Given the description of an element on the screen output the (x, y) to click on. 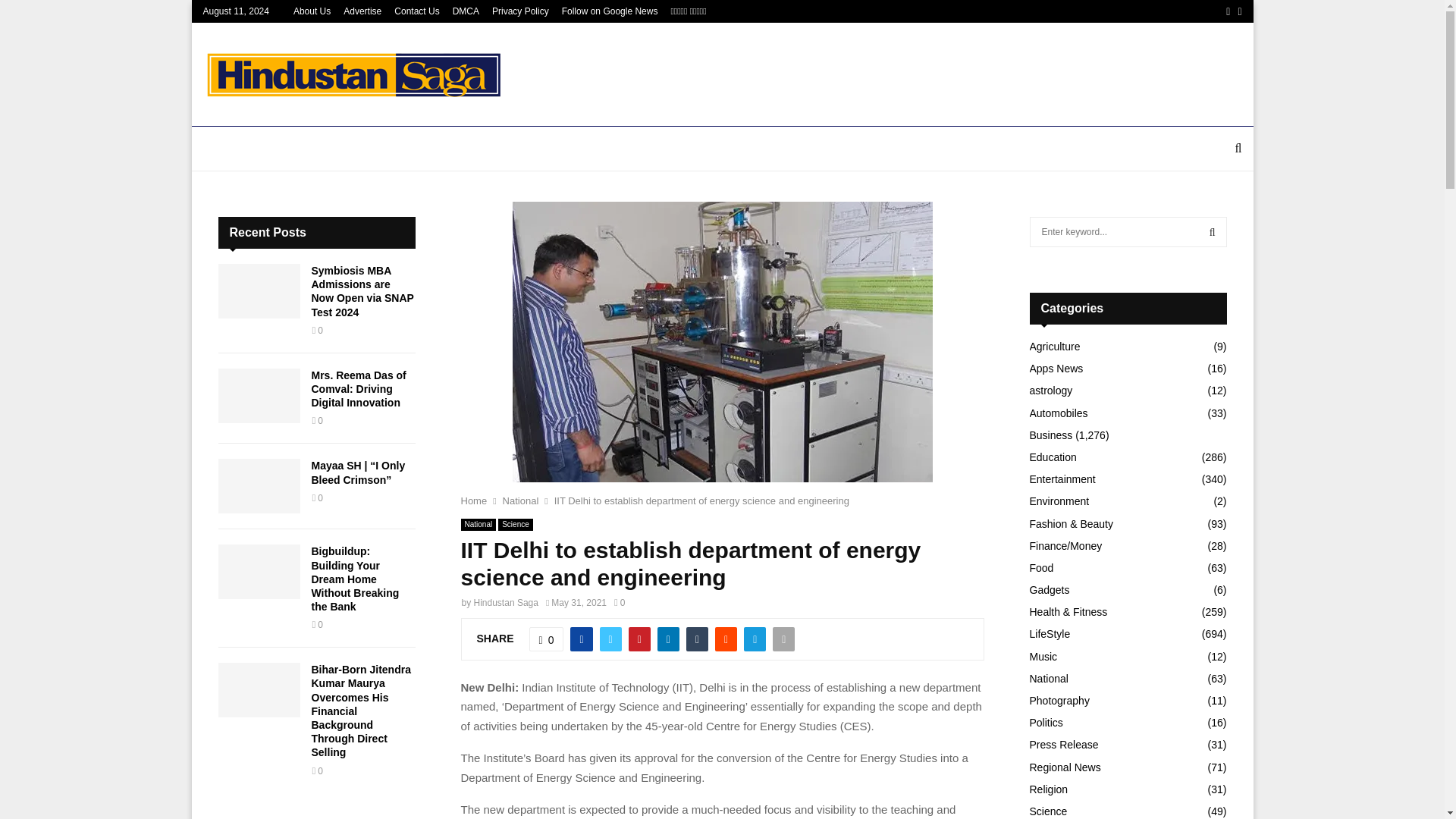
EDUCATION (425, 148)
About Us (312, 11)
LIFESTYLE (513, 148)
MORE (940, 148)
AUTOMOBILES (668, 148)
BUSINESS (345, 148)
DMCA (465, 11)
Follow on Google News (610, 11)
Advertise (362, 11)
Privacy Policy (520, 11)
